Given the description of an element on the screen output the (x, y) to click on. 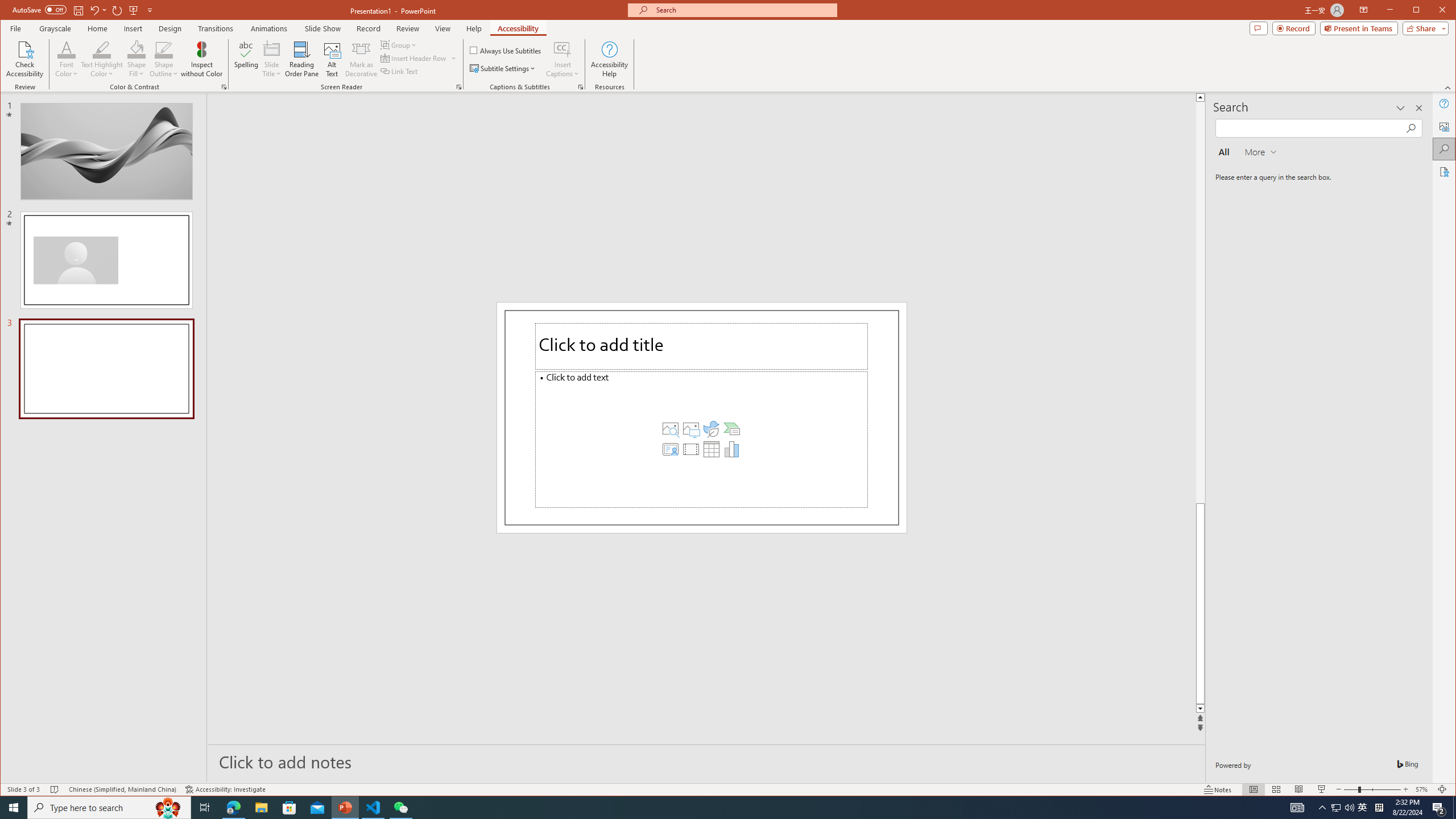
Content Placeholder (701, 439)
Alt Text (1444, 125)
Tray Input Indicator - Chinese (Simplified, China) (1378, 807)
Title TextBox (701, 345)
Shape Outline Blue, Accent 1 (163, 48)
Maximize (1432, 11)
Slide Title (271, 48)
Accessibility Help (608, 59)
Task View (204, 807)
